Given the description of an element on the screen output the (x, y) to click on. 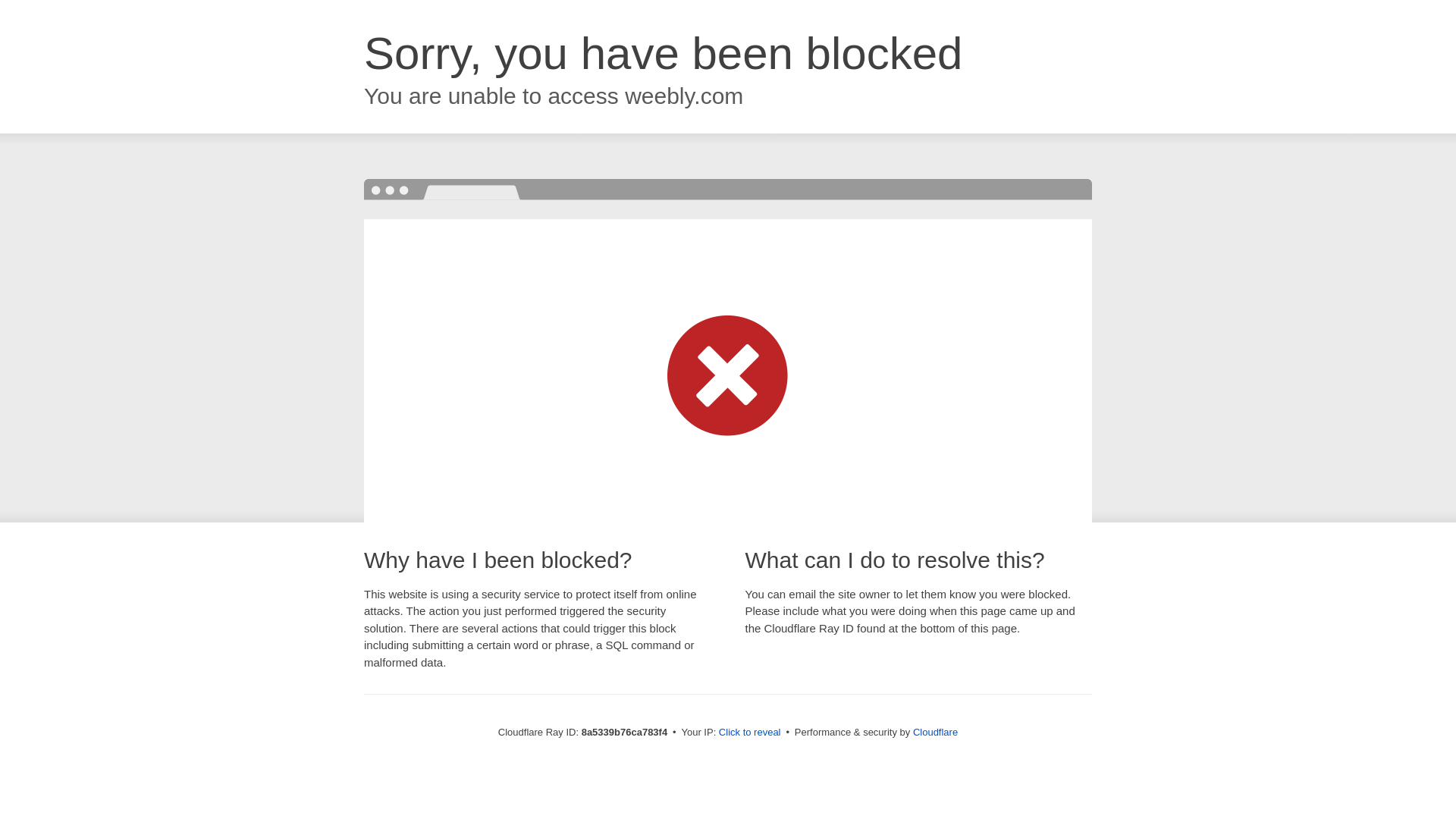
Cloudflare (935, 731)
Click to reveal (749, 732)
